Given the description of an element on the screen output the (x, y) to click on. 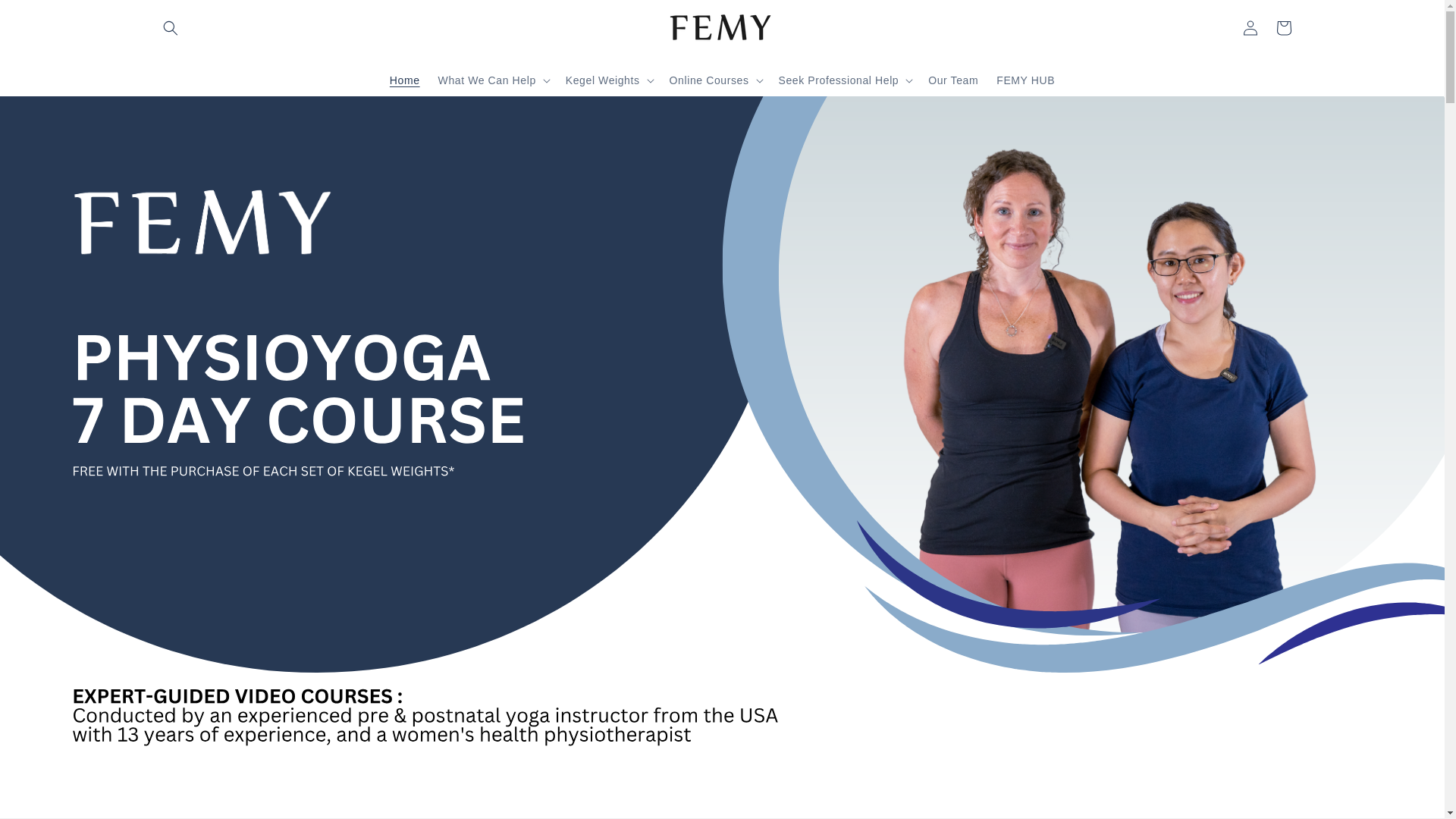
Skip to content (45, 16)
Home (404, 79)
